Given the description of an element on the screen output the (x, y) to click on. 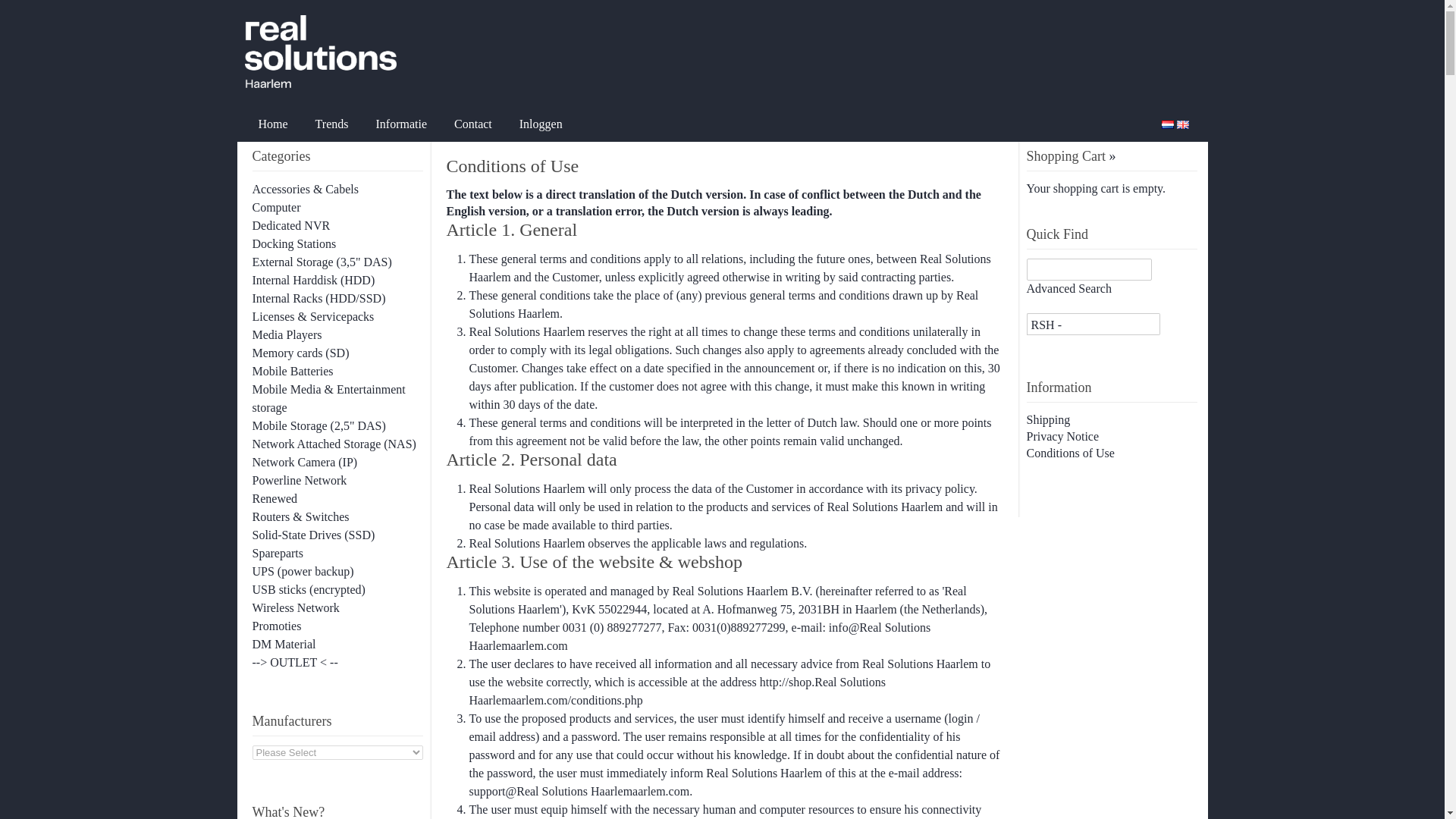
Mobile Batteries (292, 370)
Home (272, 124)
Renewed (274, 498)
Informatie (401, 124)
Docking Stations (293, 243)
Media Players (286, 334)
Dedicated NVR (290, 225)
Nederlands (1167, 124)
Inloggen (540, 124)
DM Material (283, 644)
